Given the description of an element on the screen output the (x, y) to click on. 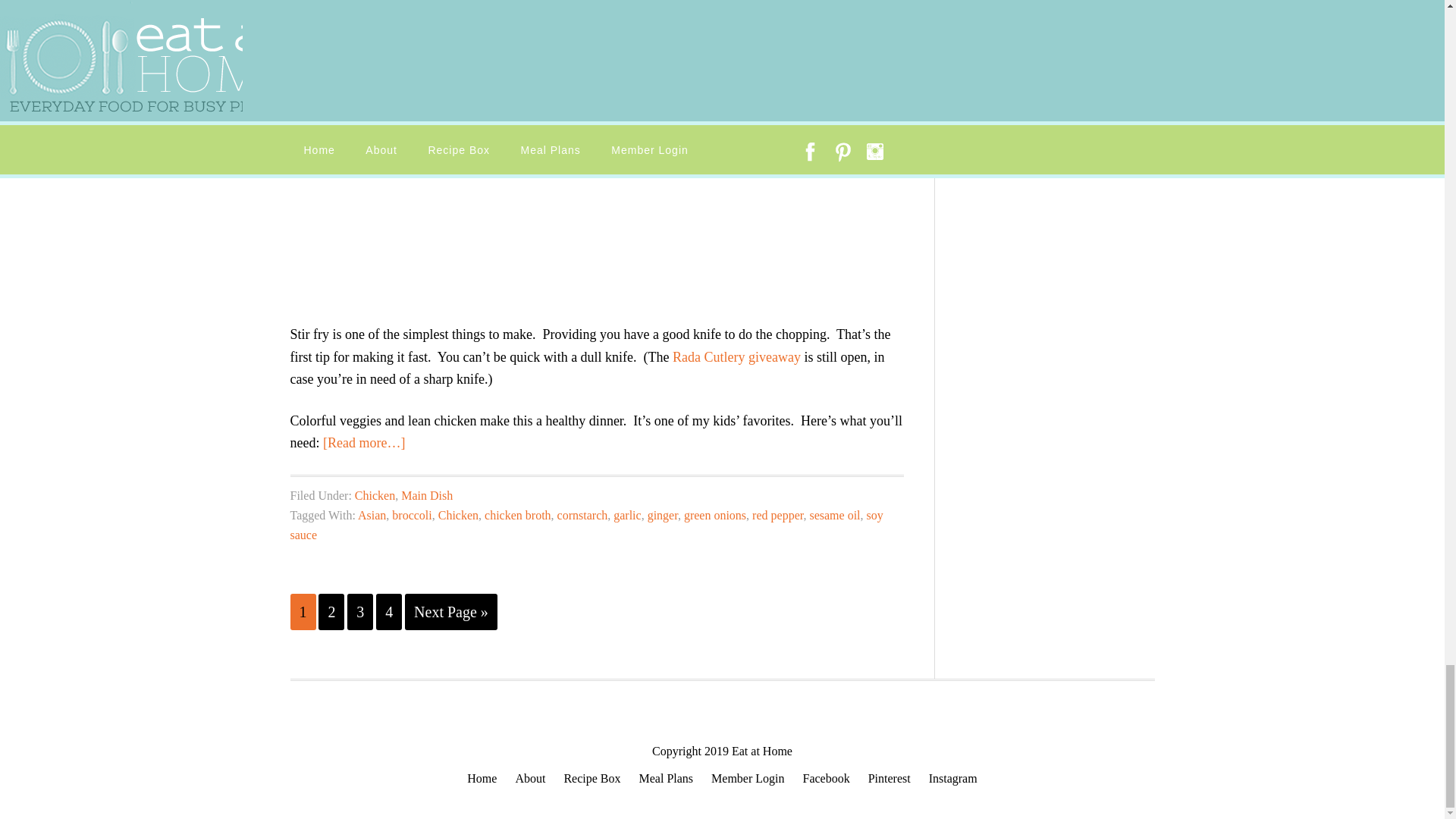
chicken broccoli and red pepper stir fry done (493, 151)
